Given the description of an element on the screen output the (x, y) to click on. 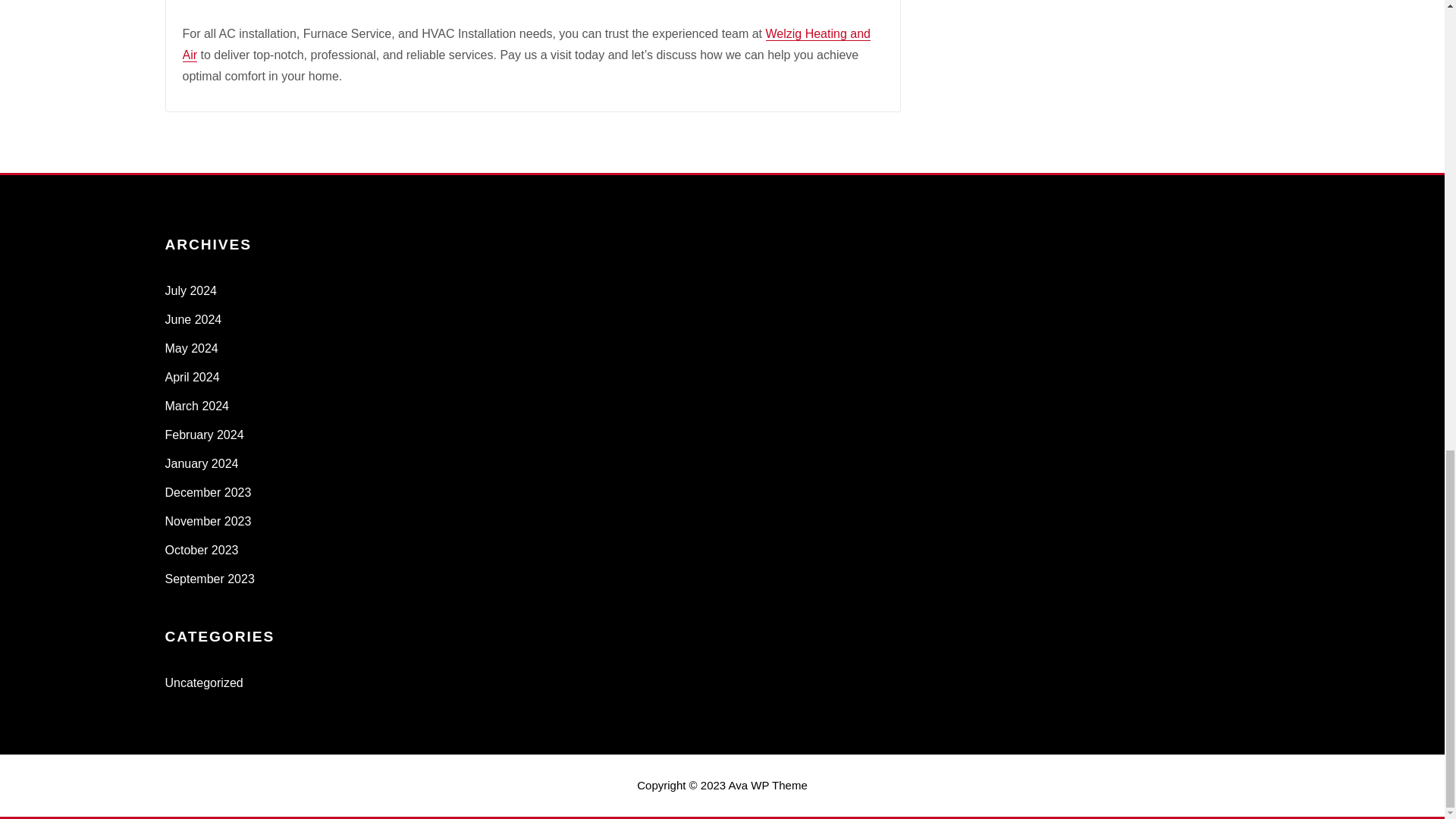
November 2023 (208, 521)
Uncategorized (204, 682)
Welzig Heating and Air (525, 44)
April 2024 (192, 377)
February 2024 (204, 434)
January 2024 (201, 463)
March 2024 (197, 405)
September 2023 (209, 578)
July 2024 (190, 290)
May 2024 (191, 348)
June 2024 (193, 318)
December 2023 (208, 492)
October 2023 (201, 549)
